Given the description of an element on the screen output the (x, y) to click on. 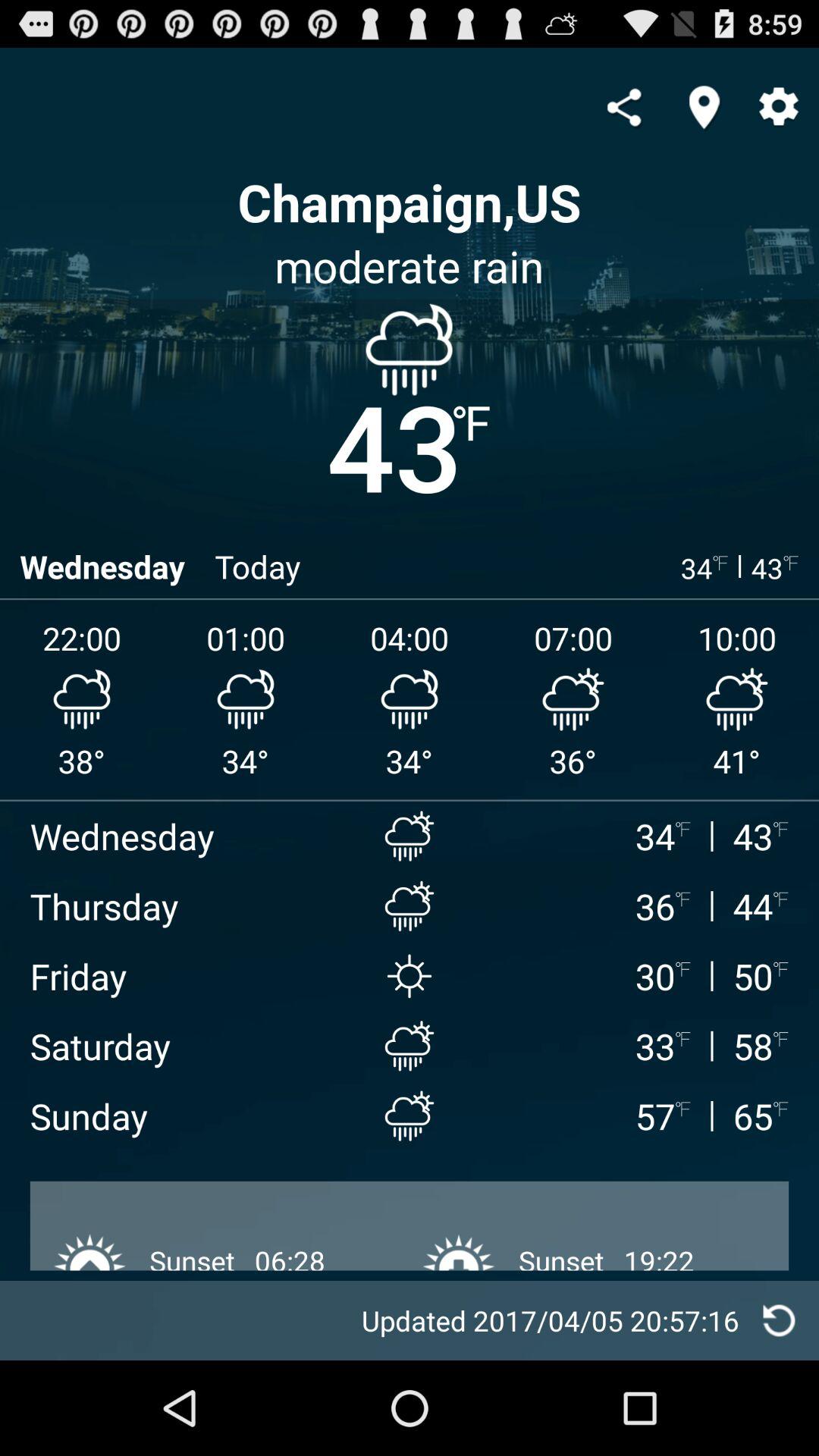
click on sharing icon (623, 107)
